Given the description of an element on the screen output the (x, y) to click on. 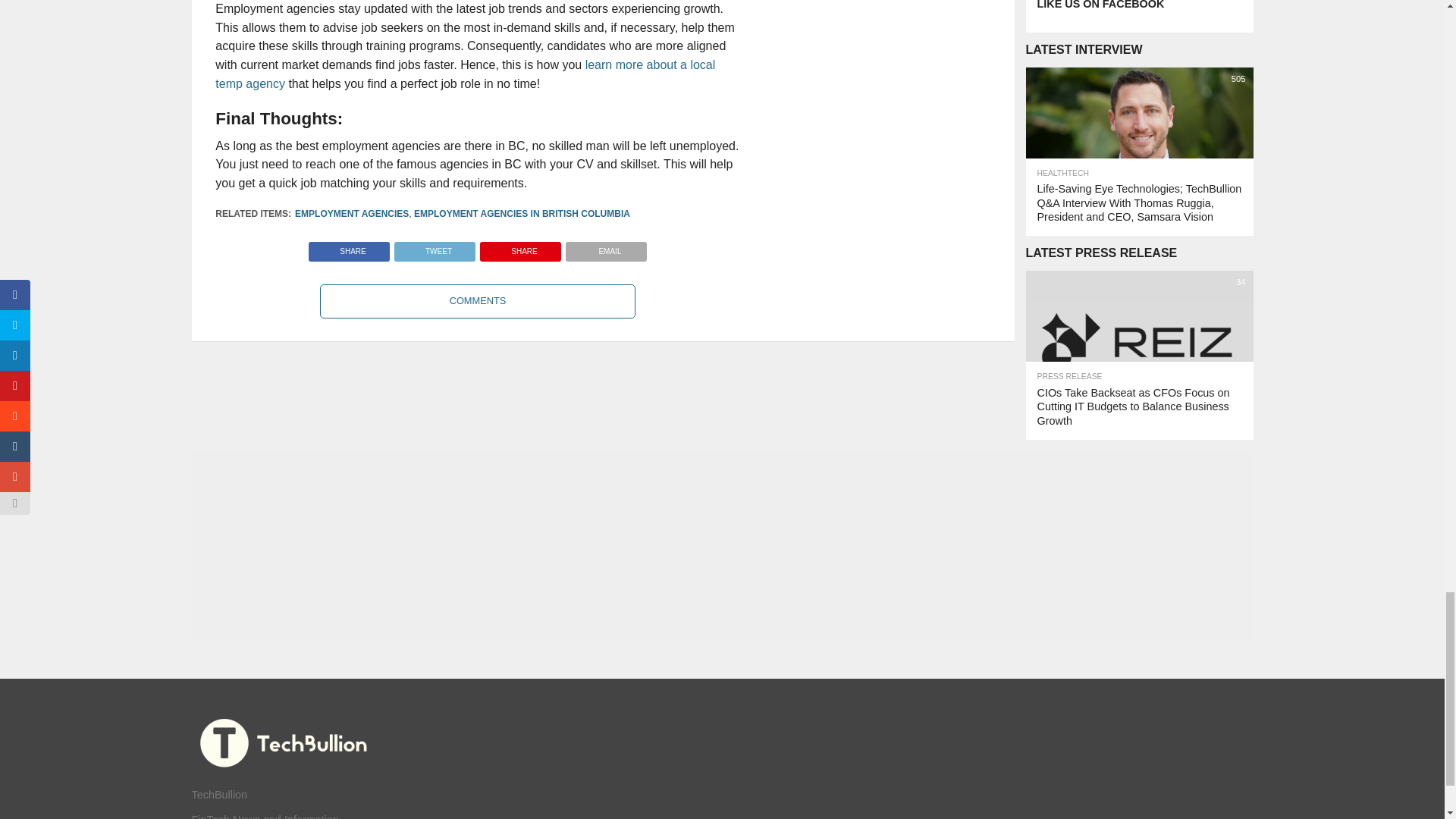
Share on Facebook (349, 246)
Tweet This Post (434, 246)
Pin This Post (520, 246)
